Given the description of an element on the screen output the (x, y) to click on. 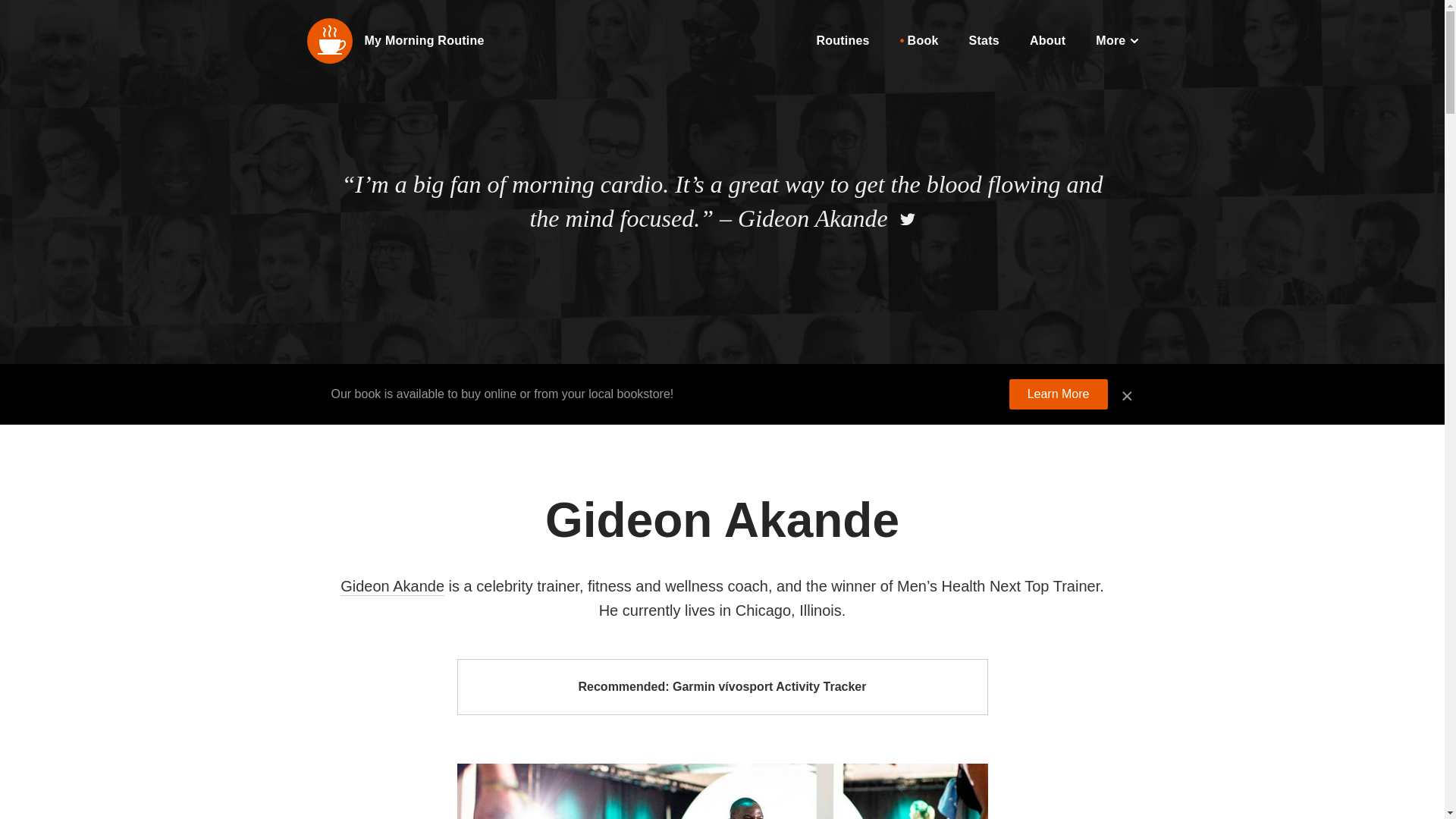
Learn More (1058, 394)
Smart activity tracker with wrist-based heart rate and GPS (722, 686)
More (1116, 40)
My Morning Routine (423, 40)
Routines (842, 40)
Gideon Akande (392, 587)
Stats (983, 40)
Book (919, 40)
About (1047, 40)
